Given the description of an element on the screen output the (x, y) to click on. 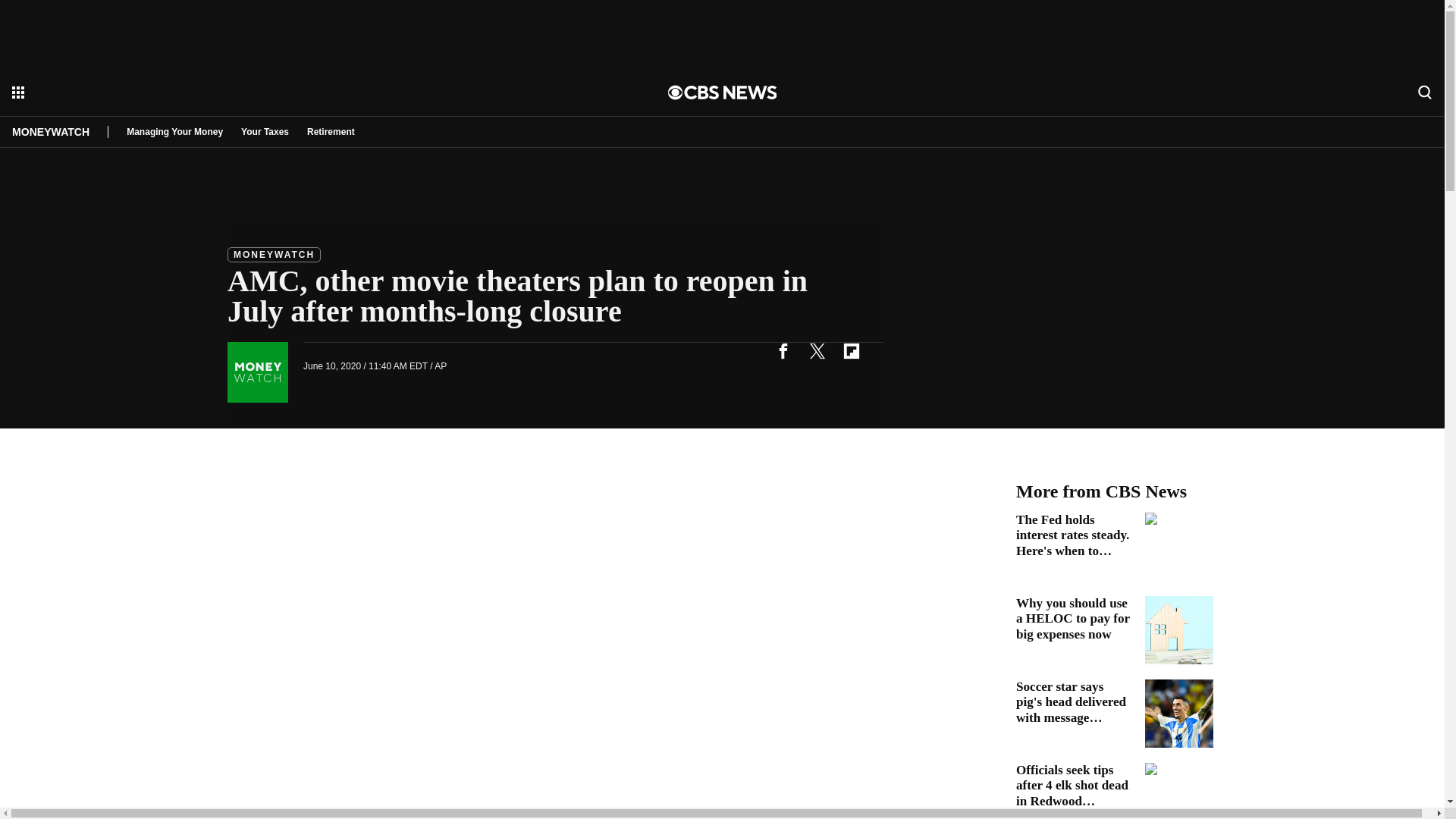
facebook (782, 350)
flipboard (850, 350)
twitter (816, 350)
